Given the description of an element on the screen output the (x, y) to click on. 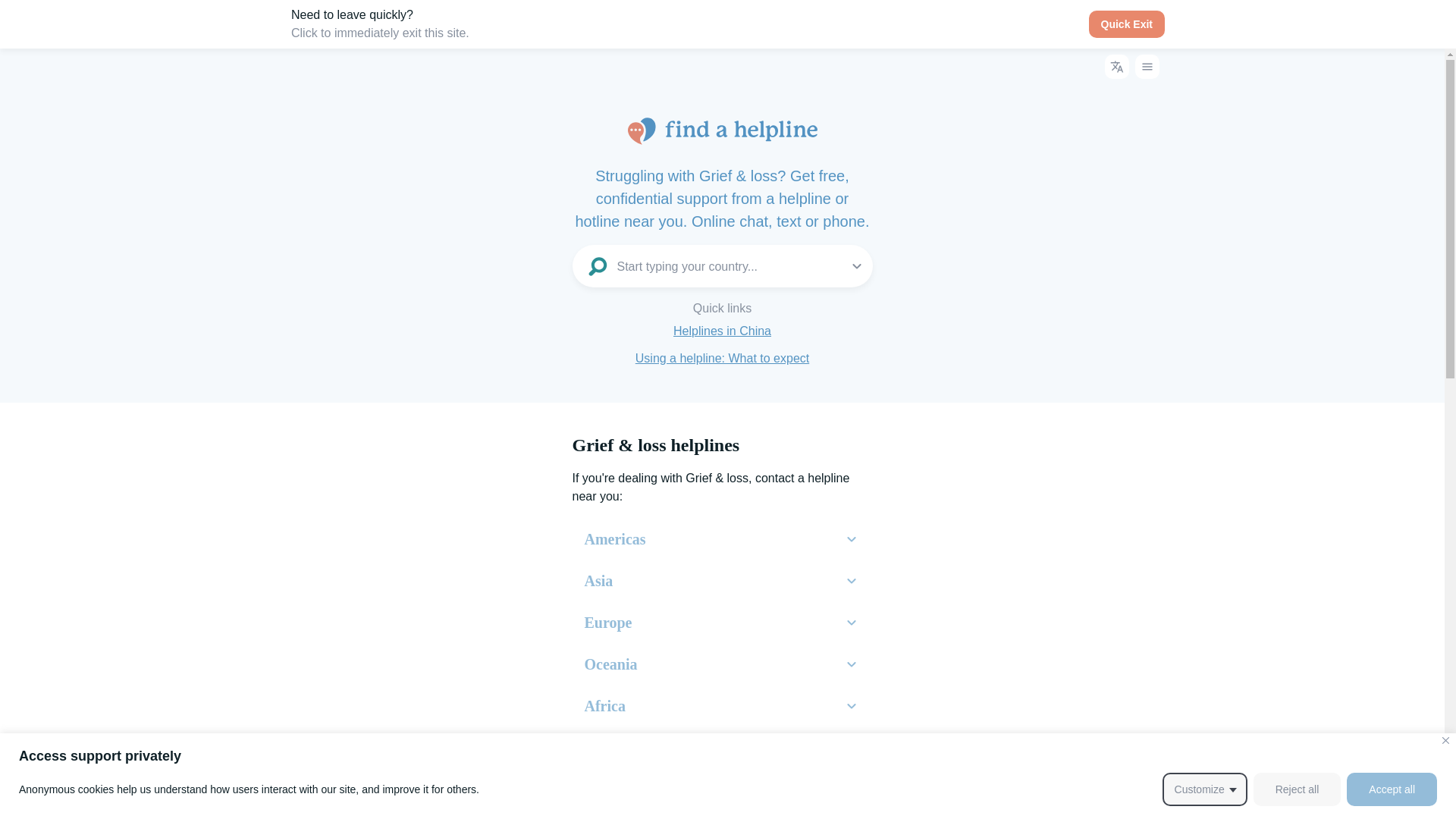
Quick Exit (1126, 24)
Open (856, 265)
Customize (1204, 788)
Accept all (1391, 788)
Reject all (1296, 788)
Using a helpline: What to expect (721, 358)
Helplines in China (721, 330)
